Given the description of an element on the screen output the (x, y) to click on. 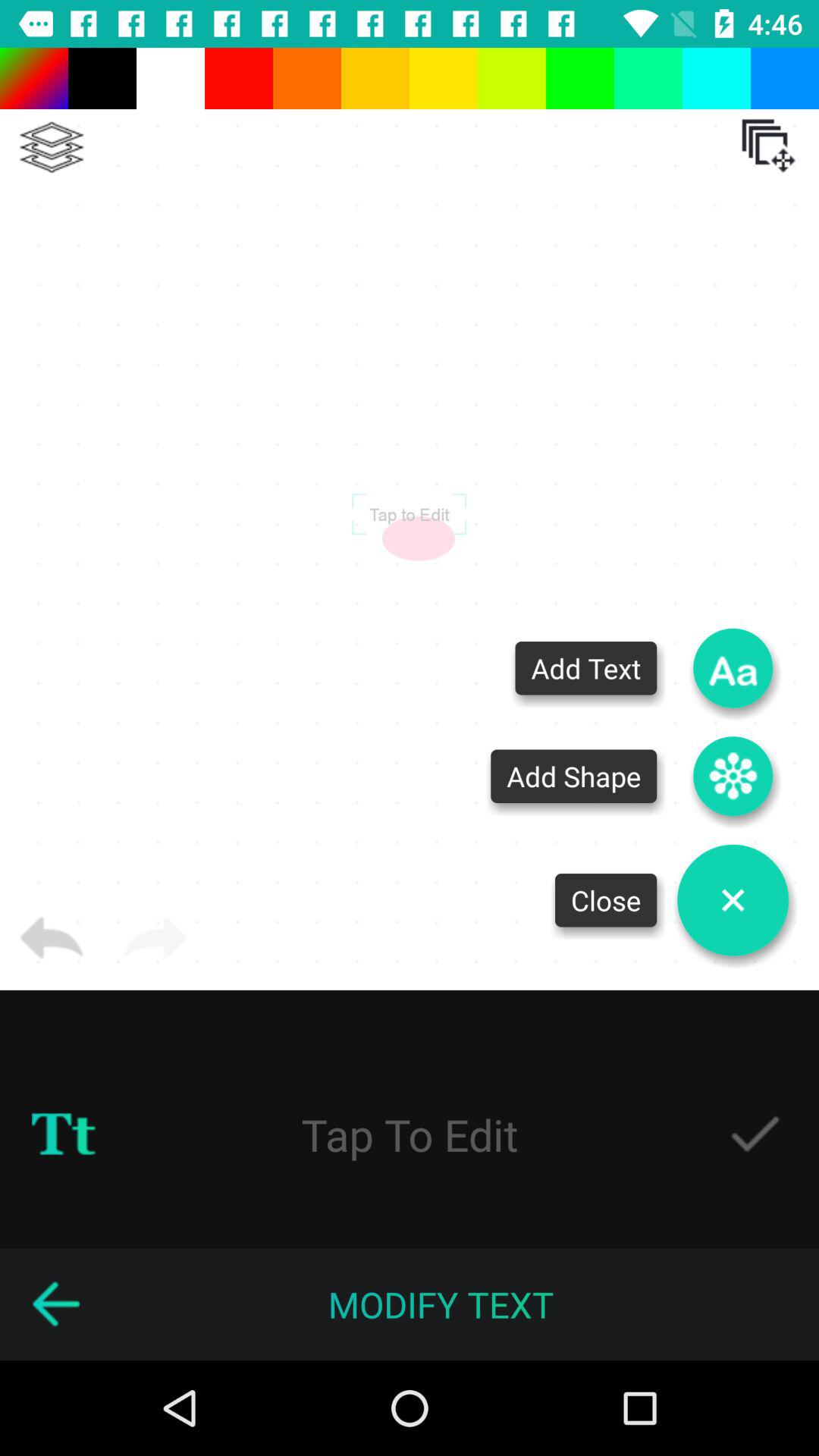
edit the logo (409, 1134)
